Given the description of an element on the screen output the (x, y) to click on. 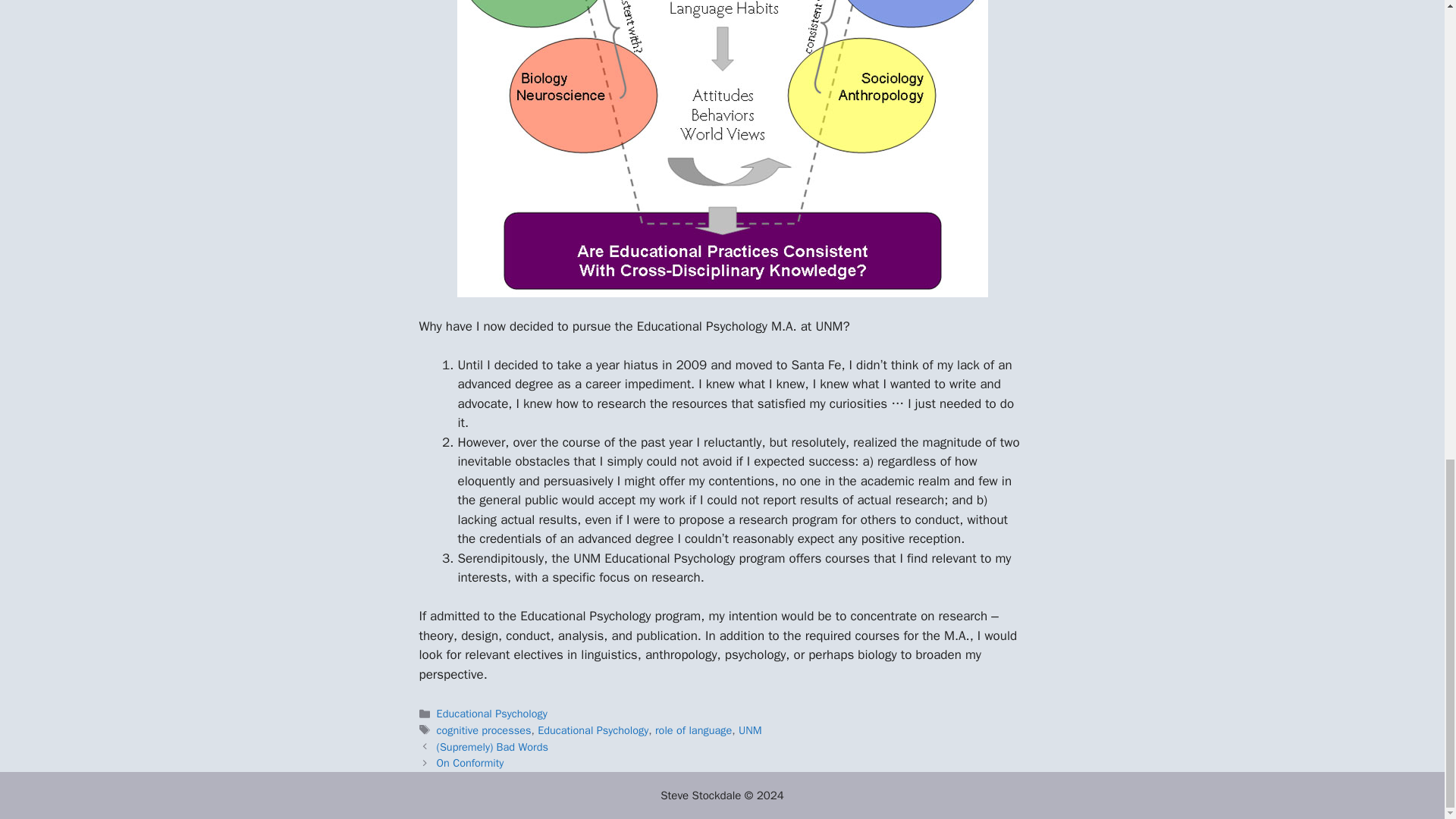
role of language (693, 730)
UNM (749, 730)
Educational Psychology (592, 730)
Educational Psychology (491, 713)
On Conformity (469, 762)
cognitive processes (483, 730)
